Given the description of an element on the screen output the (x, y) to click on. 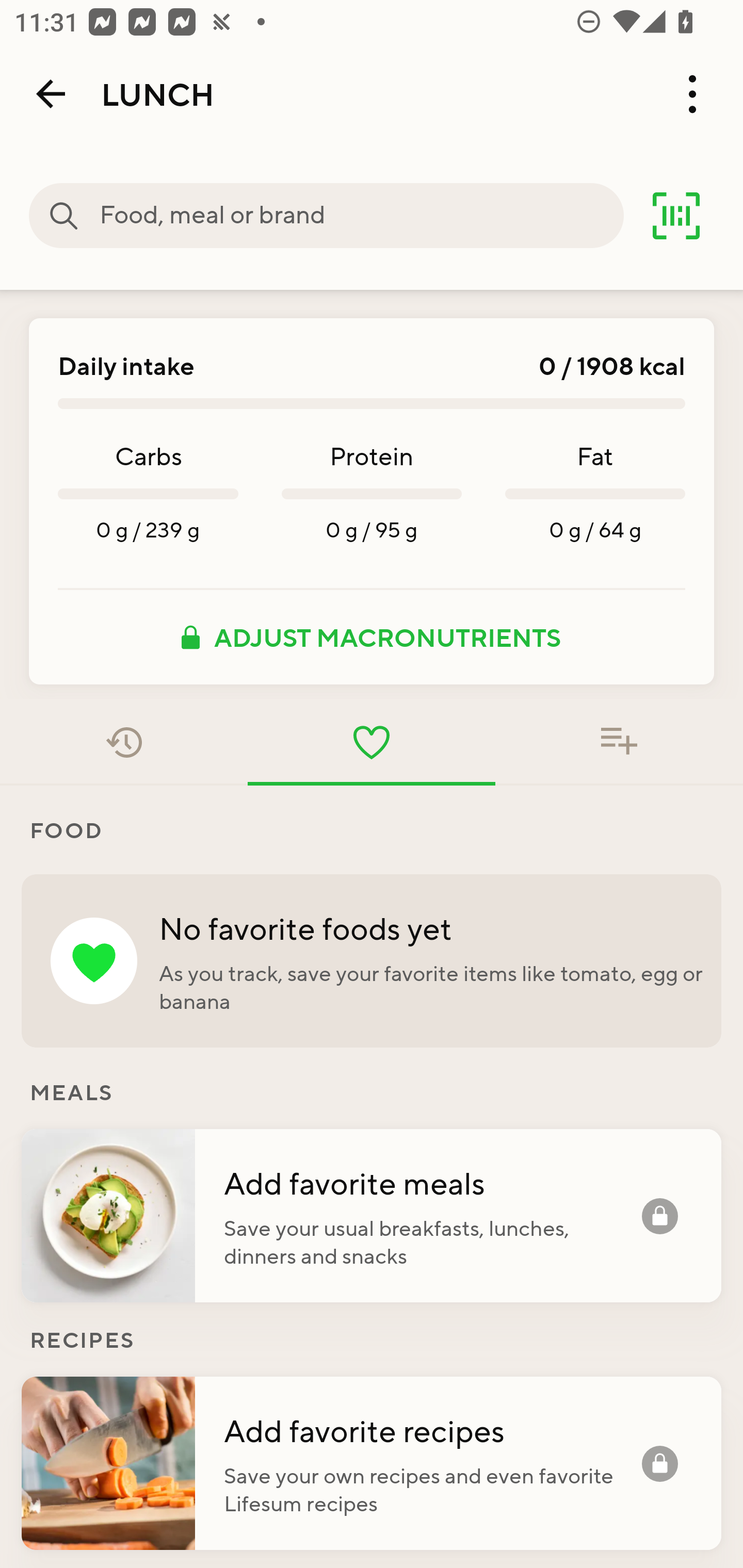
Back (50, 93)
Food, meal or brand (63, 215)
Food, meal or brand (361, 215)
ADJUST MACRONUTRIENTS (371, 637)
Recent (123, 742)
Food added (619, 742)
Add favorite meals (432, 1182)
Add favorite recipes (432, 1429)
